Given the description of an element on the screen output the (x, y) to click on. 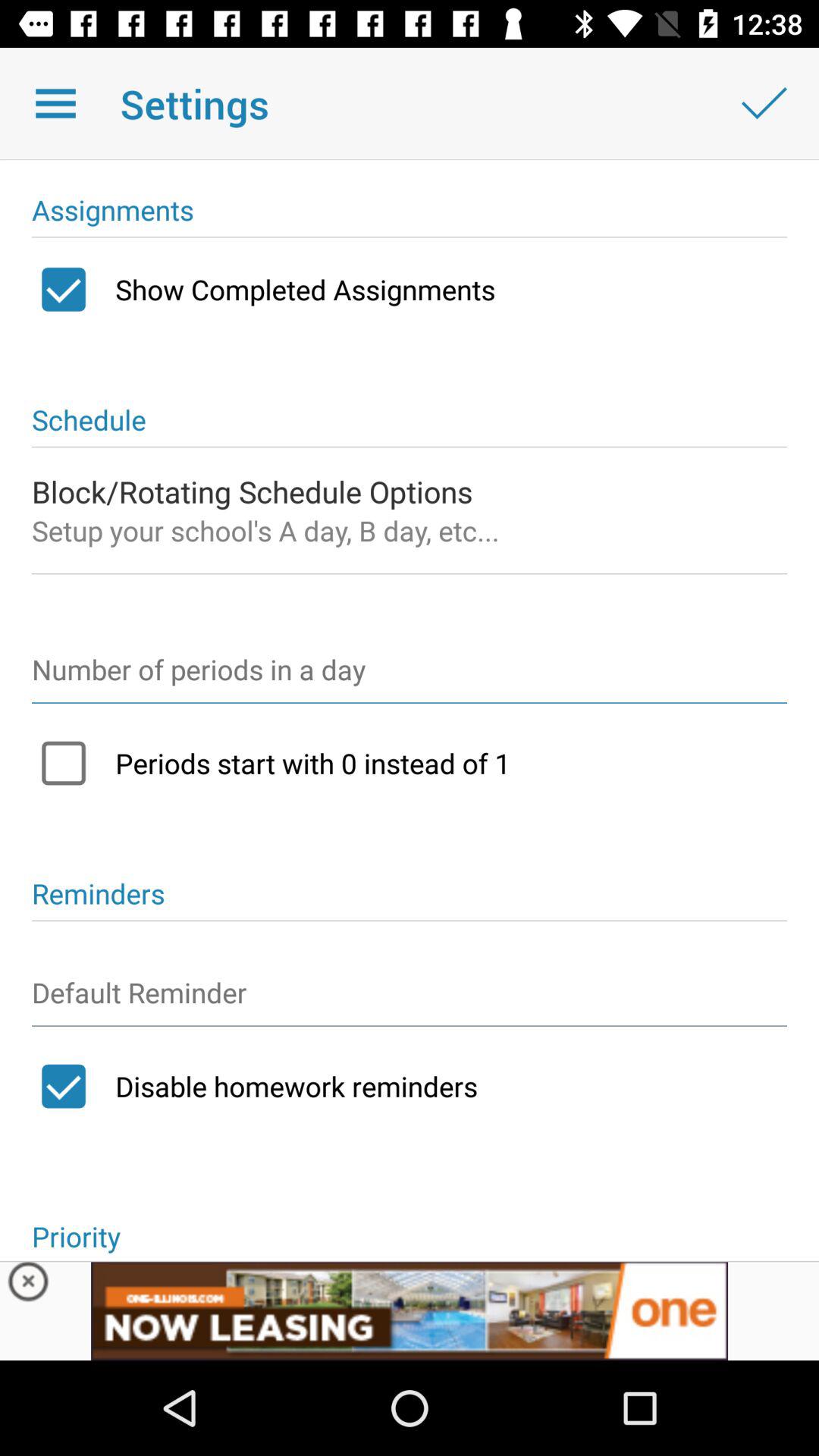
see menu (55, 103)
